Given the description of an element on the screen output the (x, y) to click on. 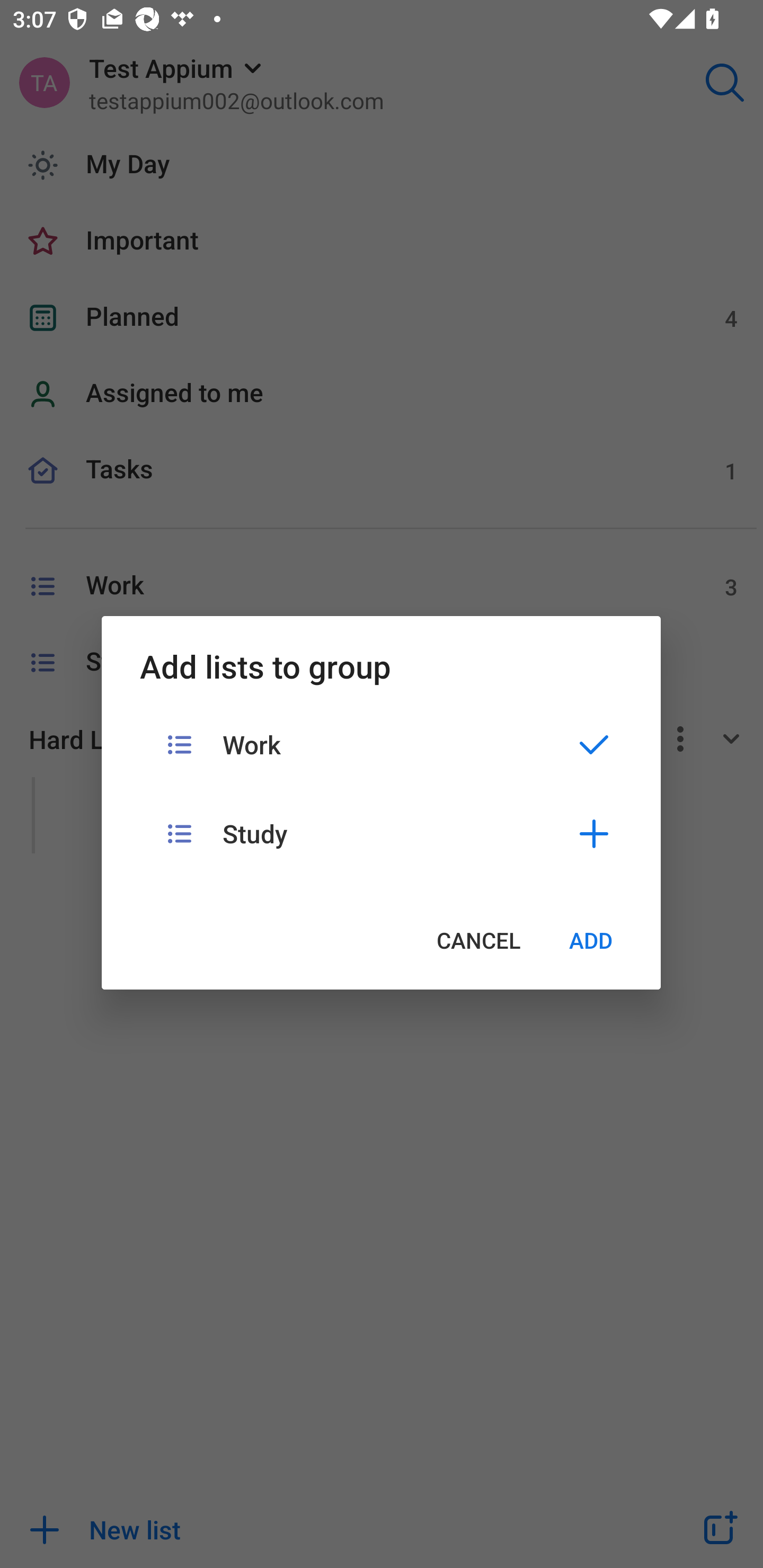
Study (380, 833)
